Given the description of an element on the screen output the (x, y) to click on. 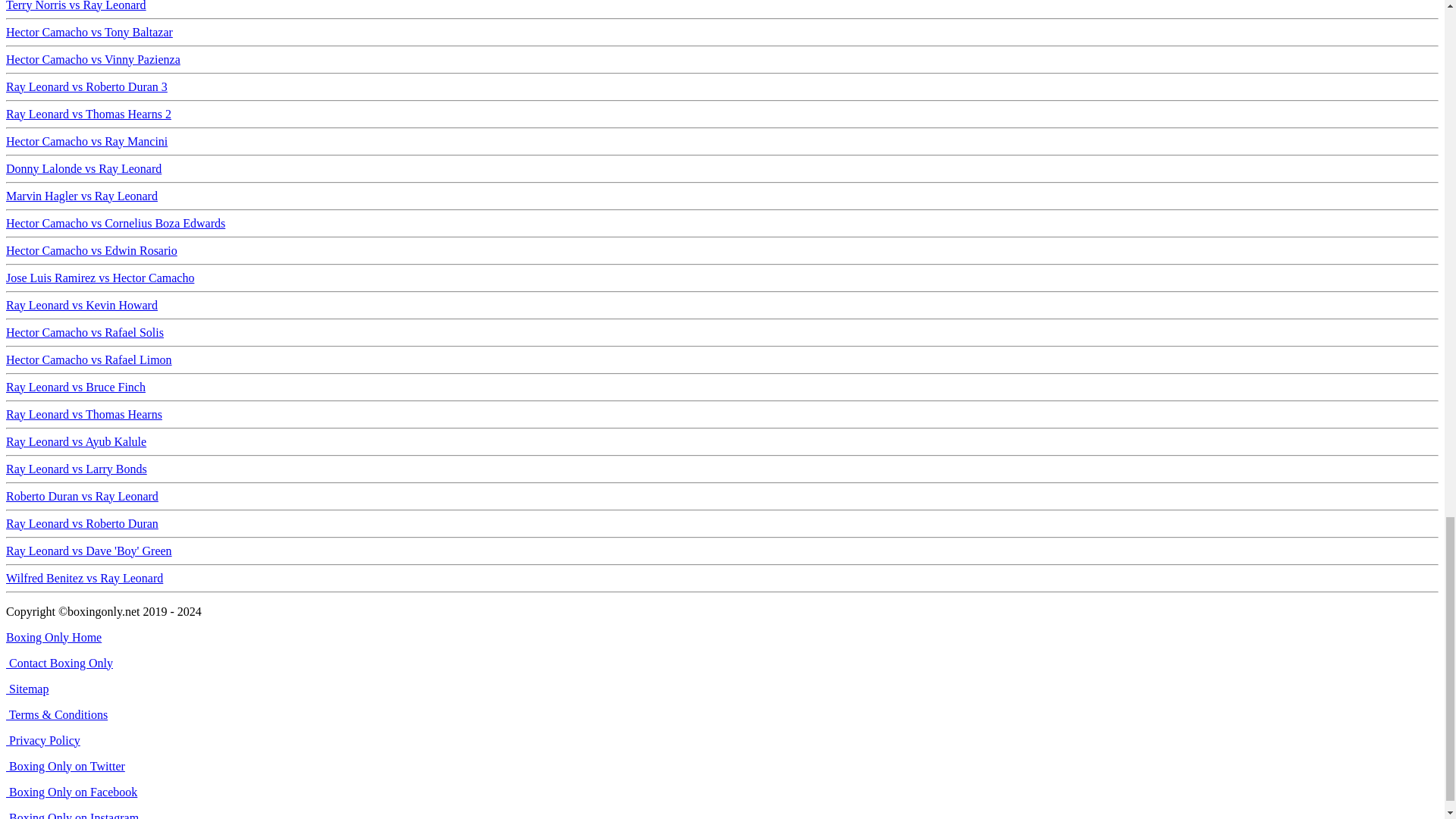
Ray Leonard vs Thomas Hearns 2 (88, 113)
Ray Leonard vs Bruce Finch (75, 386)
Wilfred Benitez vs Ray Leonard (84, 577)
Ray Leonard vs Roberto Duran 3 (86, 86)
Marvin Hagler vs Ray Leonard (81, 195)
Ray Leonard vs Ayub Kalule (76, 440)
Roberto Duran vs Ray Leonard (81, 495)
Hector Camacho vs Cornelius Boza Edwards (115, 223)
Terry Norris vs Ray Leonard (76, 5)
Hector Camacho vs Vinny Pazienza (92, 59)
Hector Camacho vs Rafael Solis (84, 332)
Ray Leonard vs Larry Bonds (76, 468)
Hector Camacho vs Tony Baltazar (89, 31)
Ray Leonard vs Dave 'Boy' Green (88, 550)
Hector Camacho vs Edwin Rosario (91, 250)
